Given the description of an element on the screen output the (x, y) to click on. 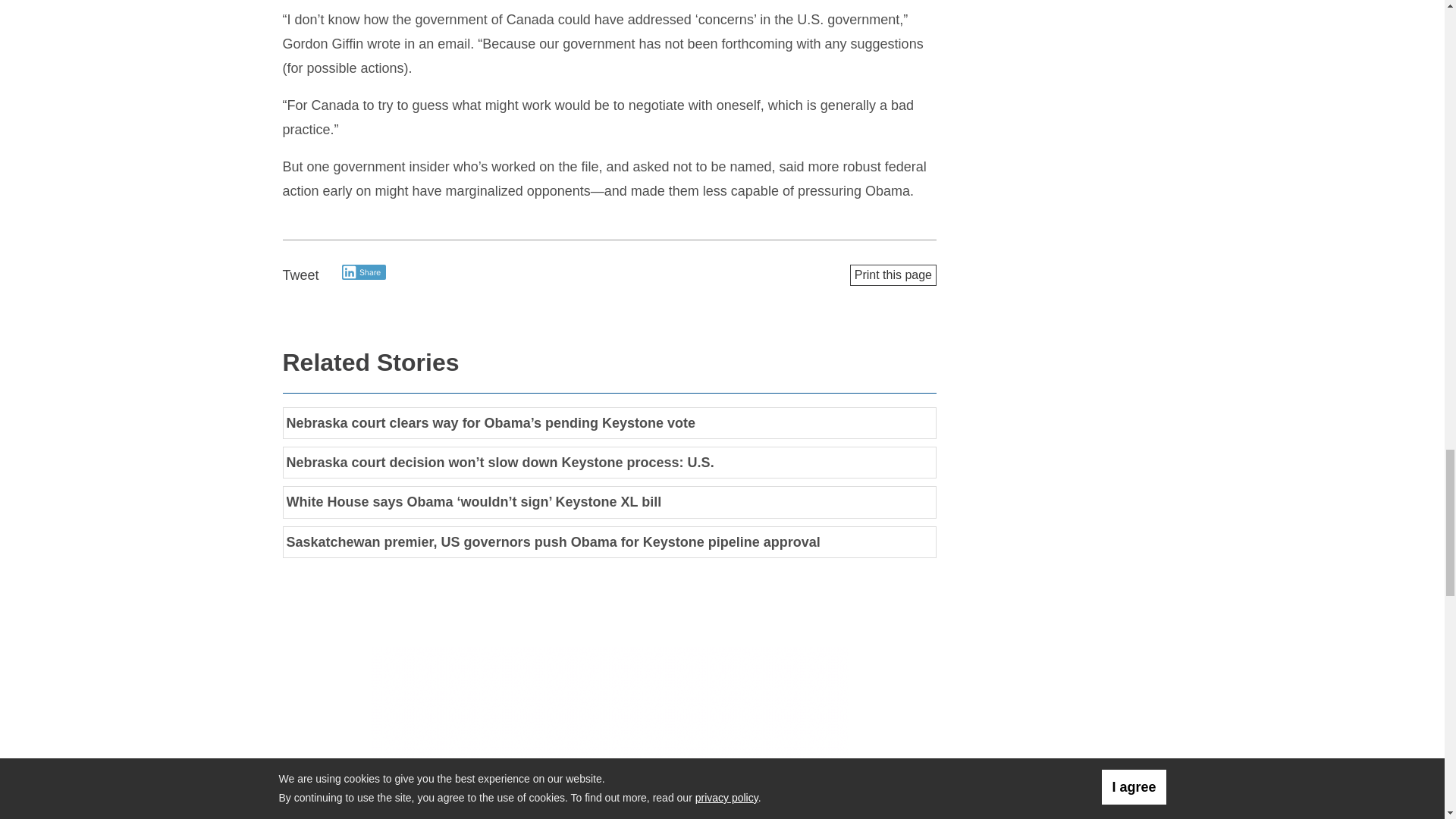
3rd party ad content (609, 732)
